Given the description of an element on the screen output the (x, y) to click on. 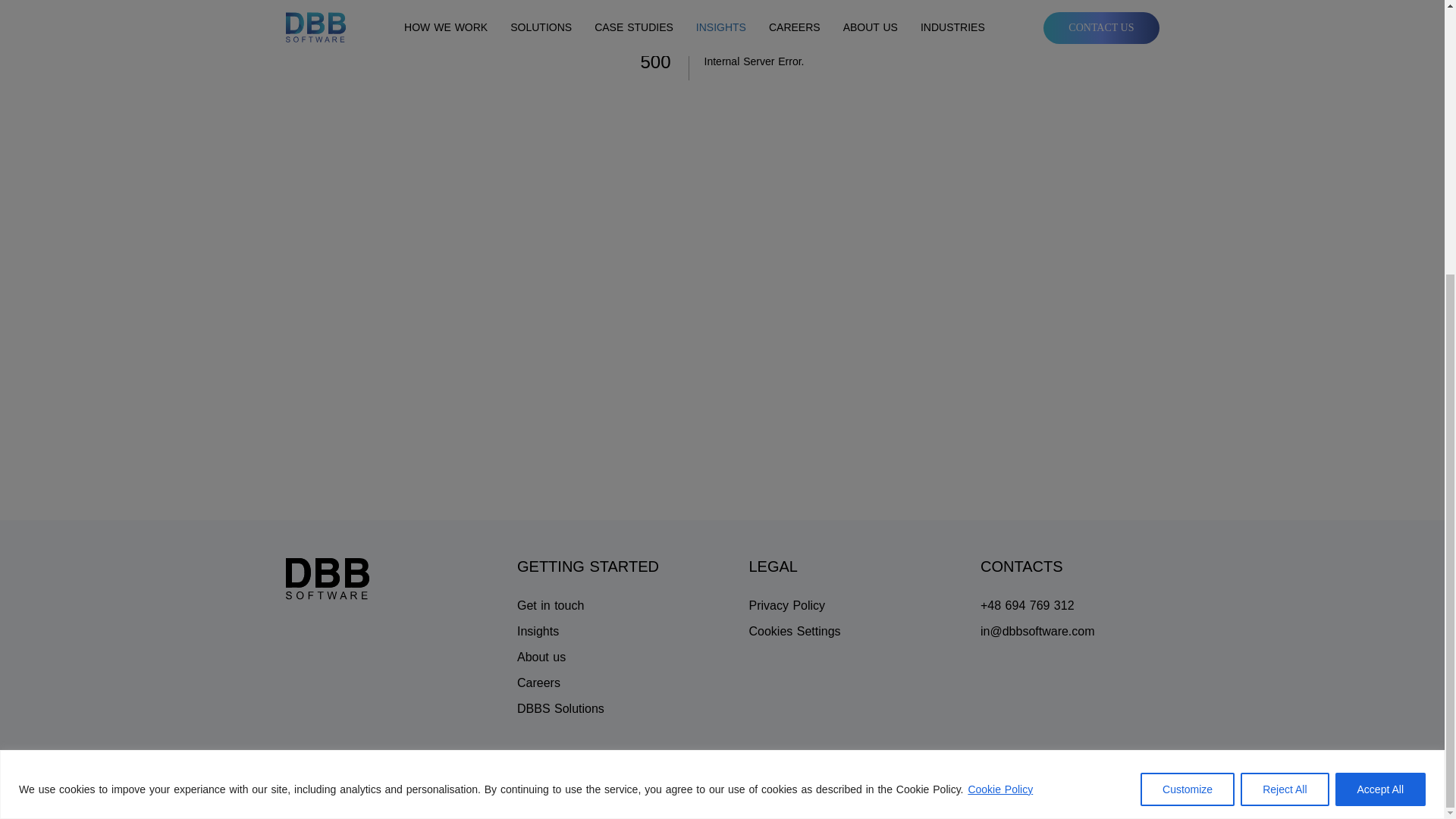
About us (560, 657)
Customize (1187, 384)
Cookie Policy (999, 385)
DBBS Solutions (560, 709)
Get in touch (560, 605)
Accept All (1380, 384)
Reject All (1283, 384)
Privacy Policy (795, 605)
Insights (560, 631)
Careers (560, 682)
